Given the description of an element on the screen output the (x, y) to click on. 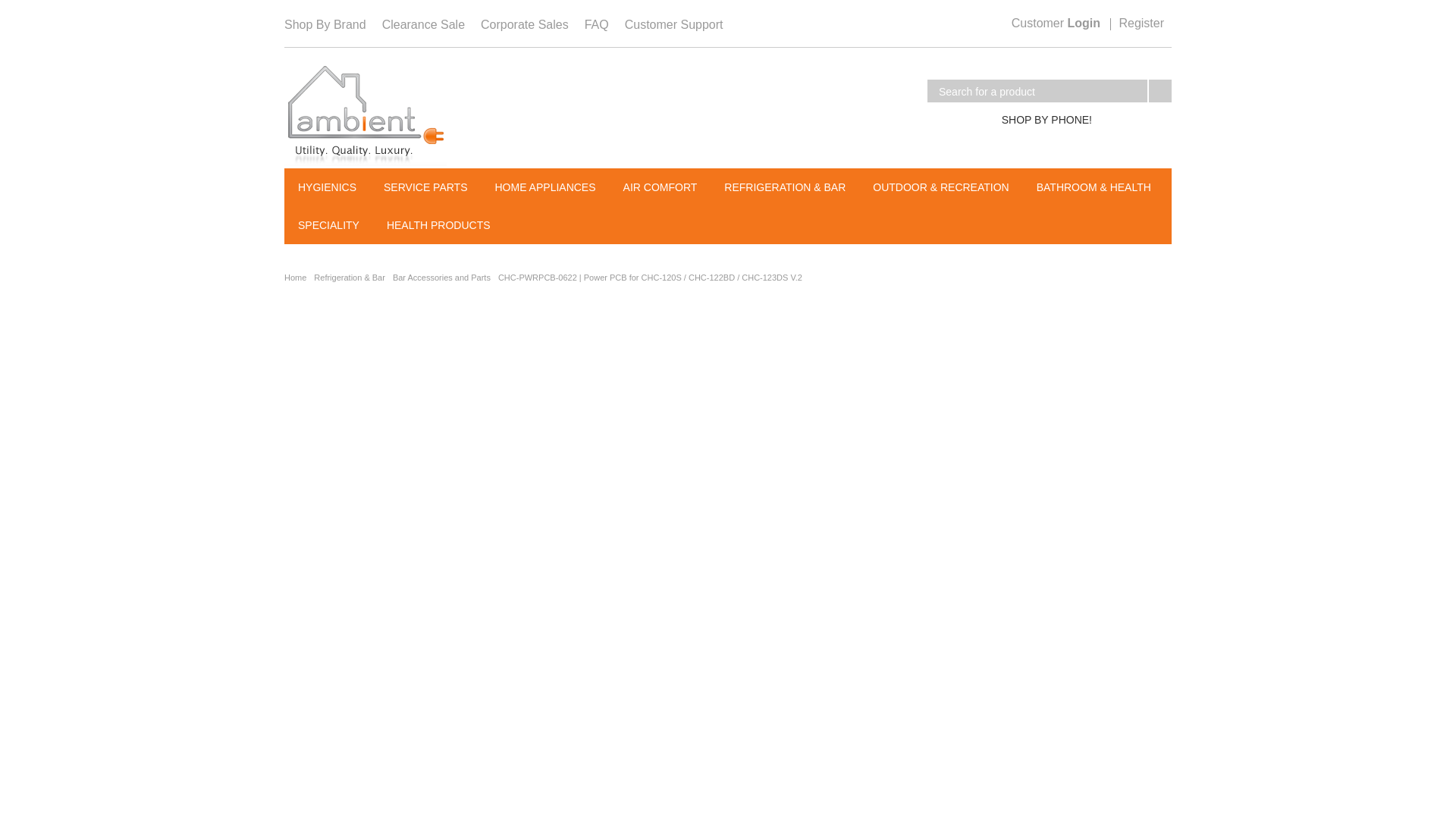
Shop By Brand (324, 24)
HYGIENICS (327, 187)
Customer Support (673, 24)
Corporate Sales (524, 24)
AIR COMFORT (660, 187)
HOME APPLIANCES (545, 187)
Search for a product (1037, 90)
SERVICE PARTS (425, 187)
Clearance Sale (422, 24)
GO (1160, 90)
